Given the description of an element on the screen output the (x, y) to click on. 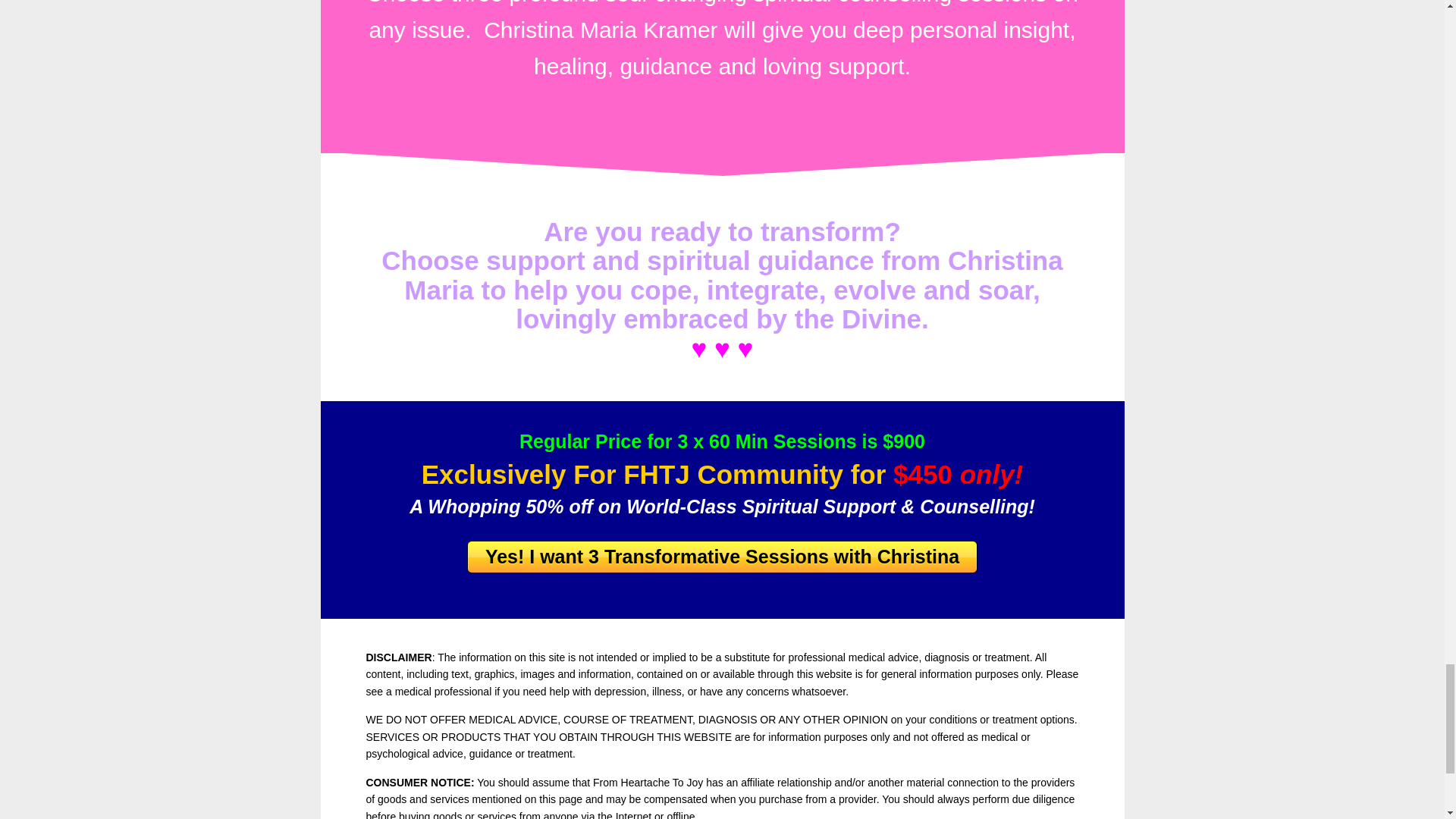
Yes! I want 3 Transformative Sessions with Christina (721, 556)
